Given the description of an element on the screen output the (x, y) to click on. 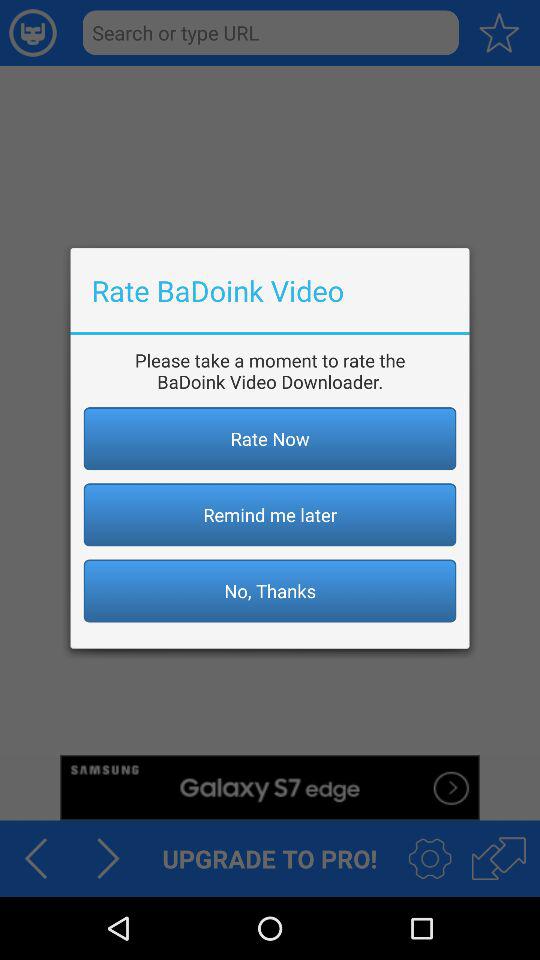
scroll to the remind me later icon (269, 514)
